Given the description of an element on the screen output the (x, y) to click on. 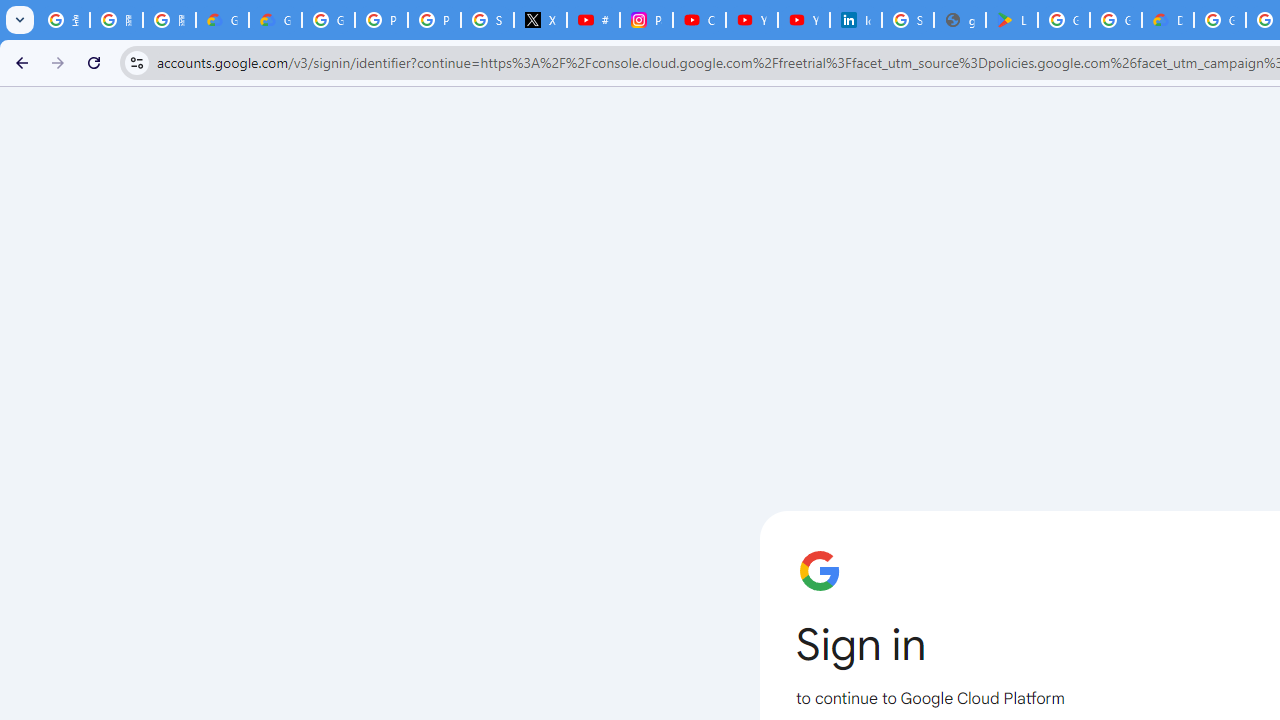
YouTube Culture & Trends - YouTube Top 10, 2021 (803, 20)
Google Cloud Platform (1219, 20)
Last Shelter: Survival - Apps on Google Play (1011, 20)
Sign in - Google Accounts (487, 20)
